Given the description of an element on the screen output the (x, y) to click on. 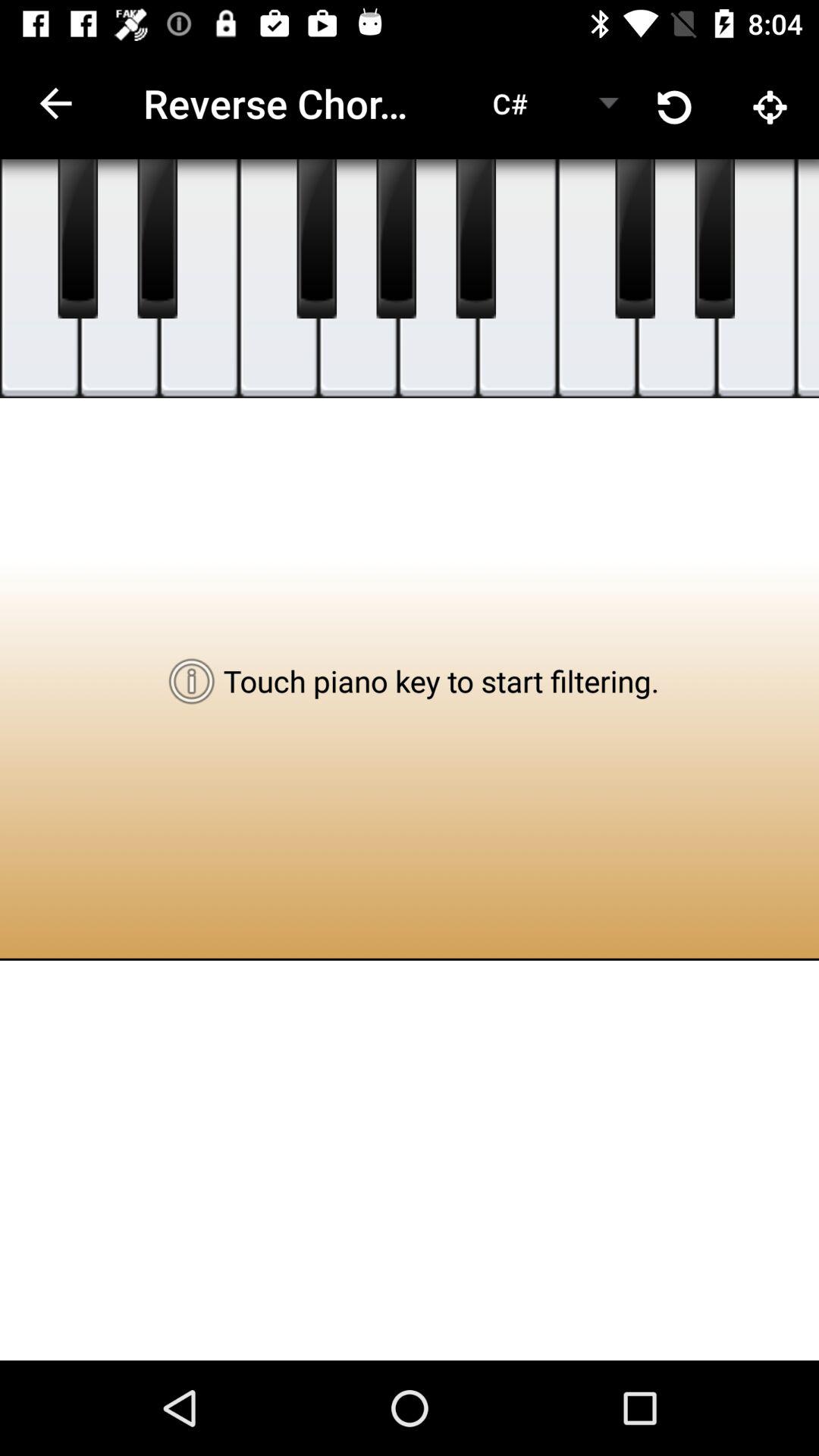
select piano key (756, 278)
